Given the description of an element on the screen output the (x, y) to click on. 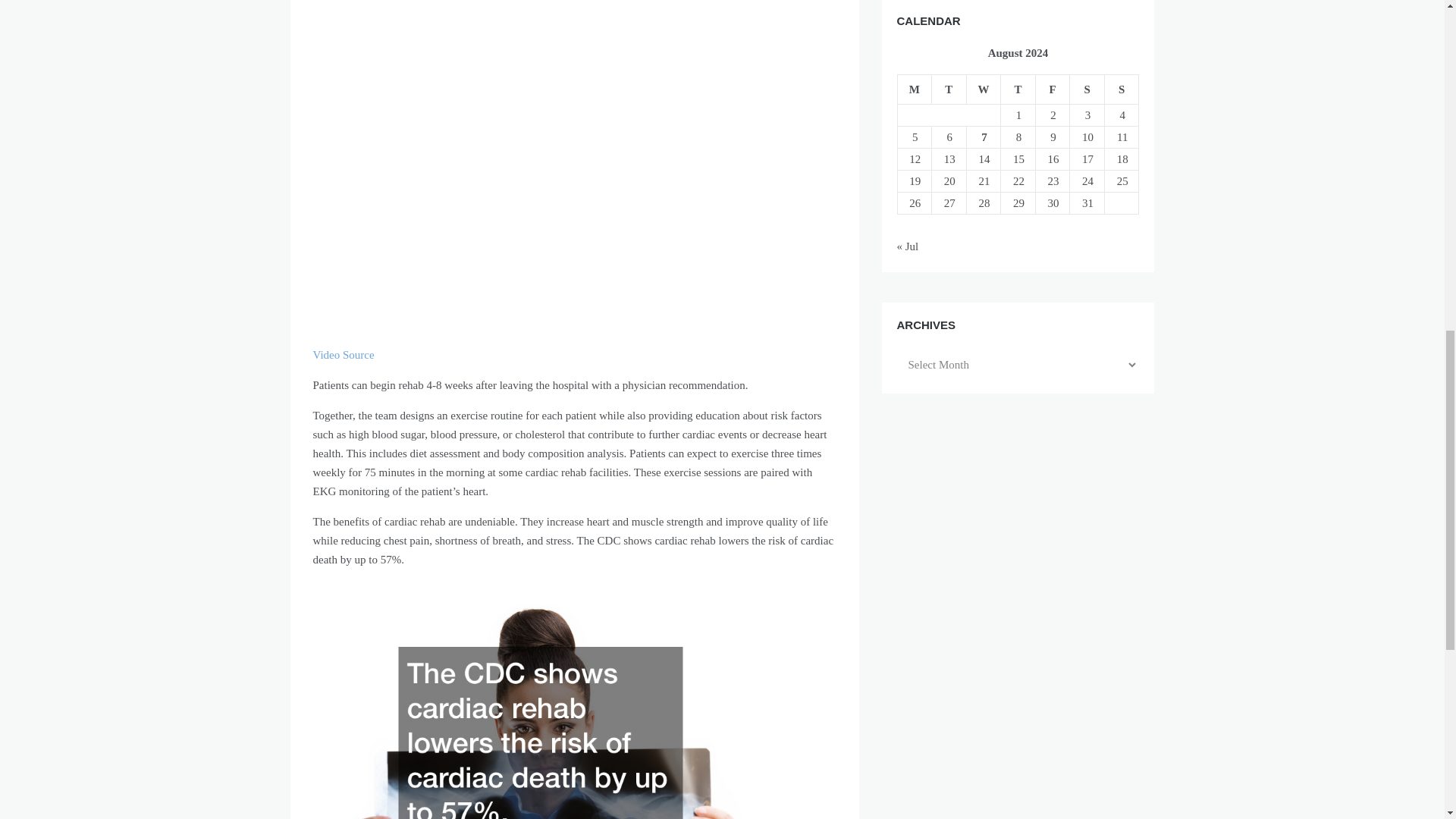
Friday (1052, 89)
Video Source (343, 354)
Thursday (1018, 89)
Tuesday (948, 89)
Sunday (1120, 89)
Saturday (1087, 89)
Wednesday (983, 89)
Monday (913, 89)
